Given the description of an element on the screen output the (x, y) to click on. 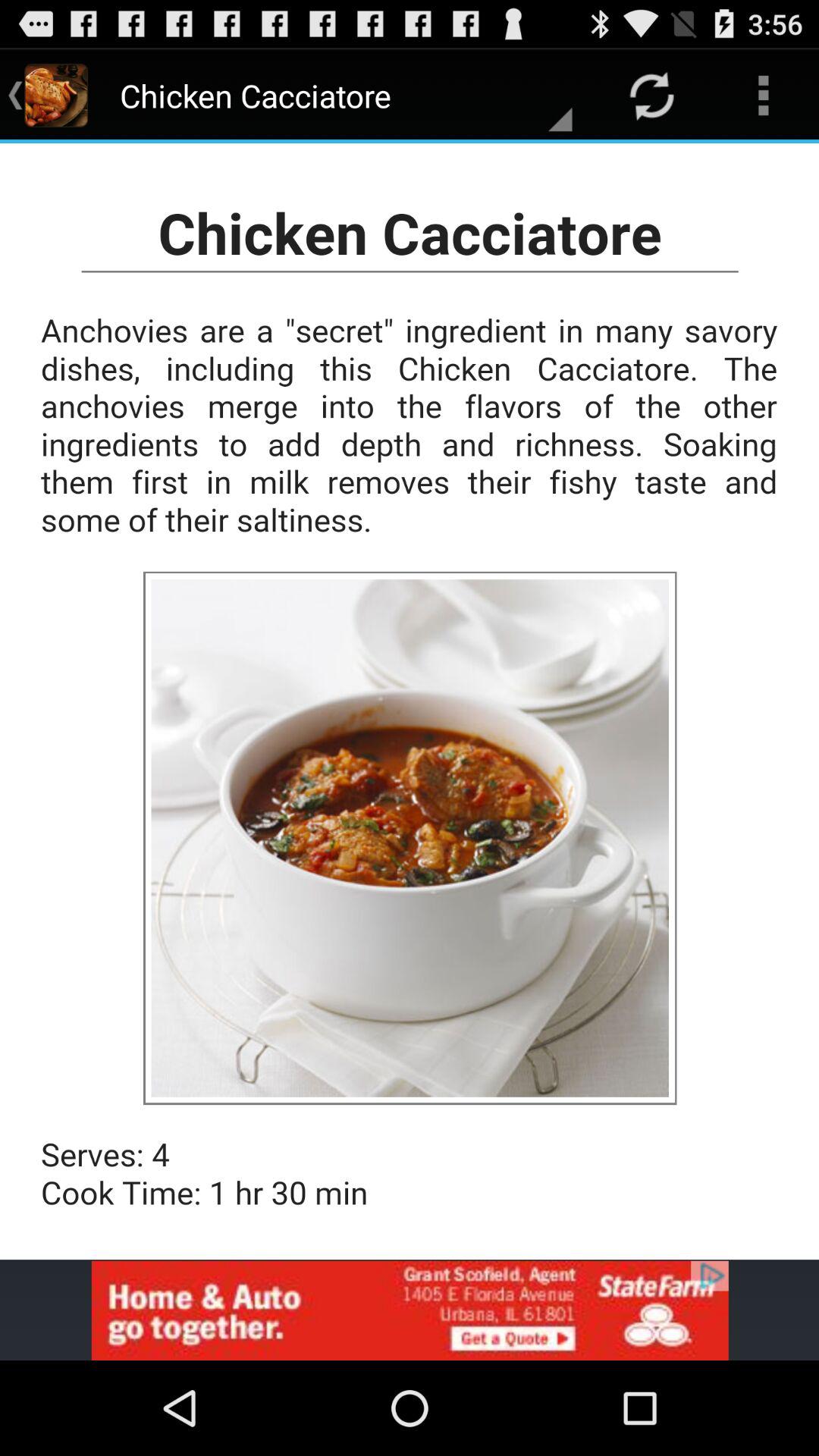
banner advertisement (409, 1310)
